Given the description of an element on the screen output the (x, y) to click on. 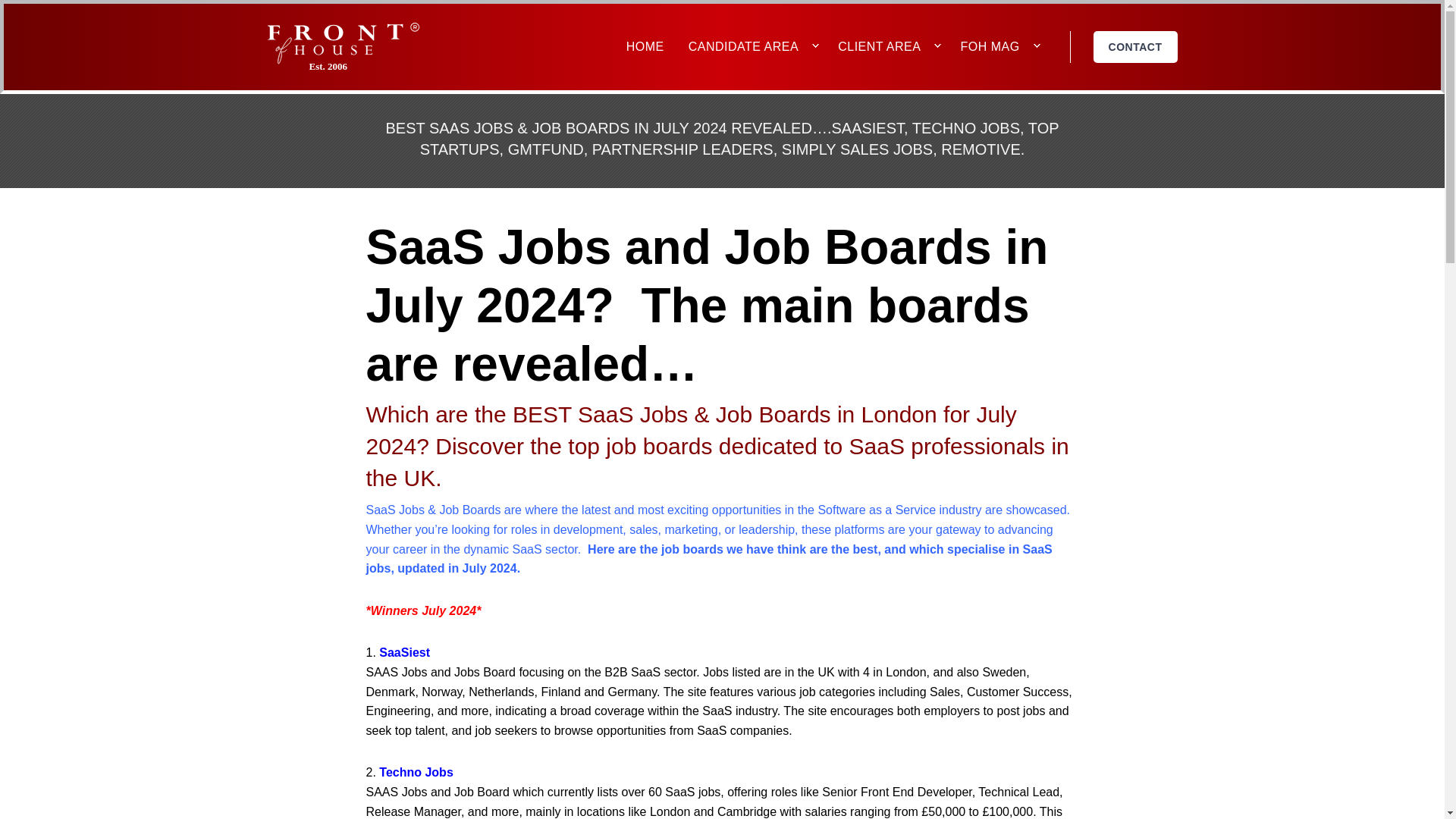
SaaSiest (403, 652)
CONTACT (1135, 47)
Est. 2006 (363, 66)
Techno Jobs (415, 771)
CLIENT AREA (879, 46)
FOH MAG (988, 46)
HOME (645, 46)
CANDIDATE AREA (743, 46)
